Given the description of an element on the screen output the (x, y) to click on. 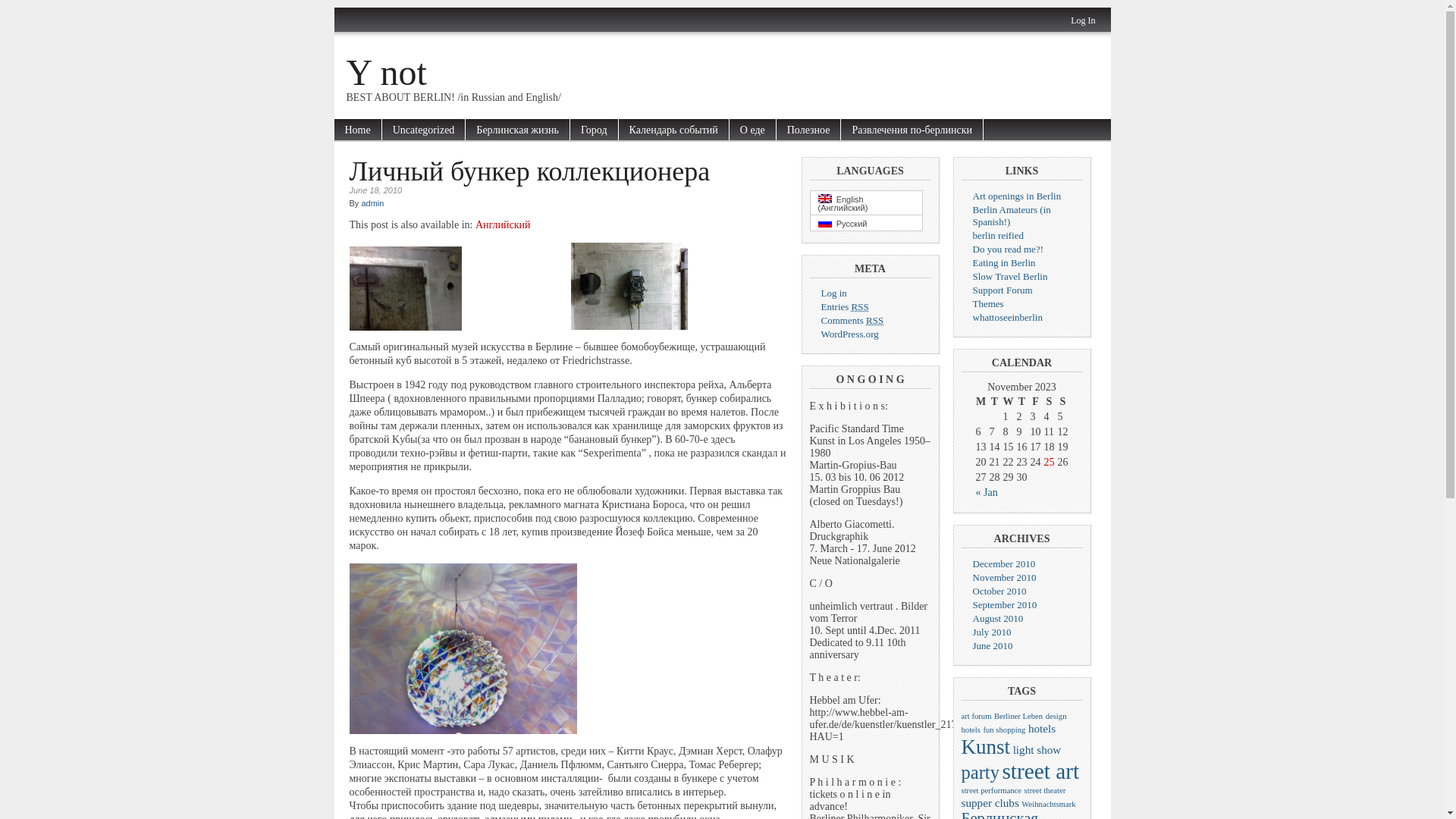
Uncategorized Element type: text (424, 129)
Weihnachtsmark Element type: text (1048, 804)
November 2010 Element type: text (1003, 577)
Entries RSS Element type: text (844, 306)
fun shopping Element type: text (1003, 729)
art forum Element type: text (976, 716)
Log in Element type: text (833, 292)
party Element type: text (980, 772)
hotels Element type: text (1041, 727)
August 2010 Element type: text (997, 618)
September 2010 Element type: text (1004, 604)
Log In Element type: text (1082, 20)
design hotels Element type: text (1013, 723)
admin Element type: text (371, 202)
sharik Element type: hover (462, 648)
Themes Element type: text (987, 303)
July 2010 Element type: text (991, 631)
Kunst Element type: text (985, 746)
Slow Travel Berlin Element type: text (1009, 276)
Support Forum Element type: text (1002, 289)
June 2010 Element type: text (992, 645)
Do you read me?! Element type: text (1007, 248)
bunk Element type: hover (629, 286)
Comments RSS Element type: text (851, 320)
Home Element type: text (357, 129)
berlin reified Element type: text (997, 235)
WordPress.org Element type: text (849, 333)
December 2010 Element type: text (1003, 563)
Art openings in Berlin Element type: text (1016, 195)
Berliner Leben Element type: text (1018, 716)
supper clubs Element type: text (990, 802)
Berlin Amateurs (in Spanish!) Element type: text (1011, 215)
Y not Element type: text (385, 72)
street art Element type: text (1040, 771)
bunkerdoor1 Element type: hover (404, 288)
street theater Element type: text (1045, 790)
October 2010 Element type: text (999, 590)
light show Element type: text (1037, 749)
Eating in Berlin Element type: text (1003, 262)
street performance Element type: text (991, 790)
whattoseeinberlin Element type: text (1006, 317)
